Given the description of an element on the screen output the (x, y) to click on. 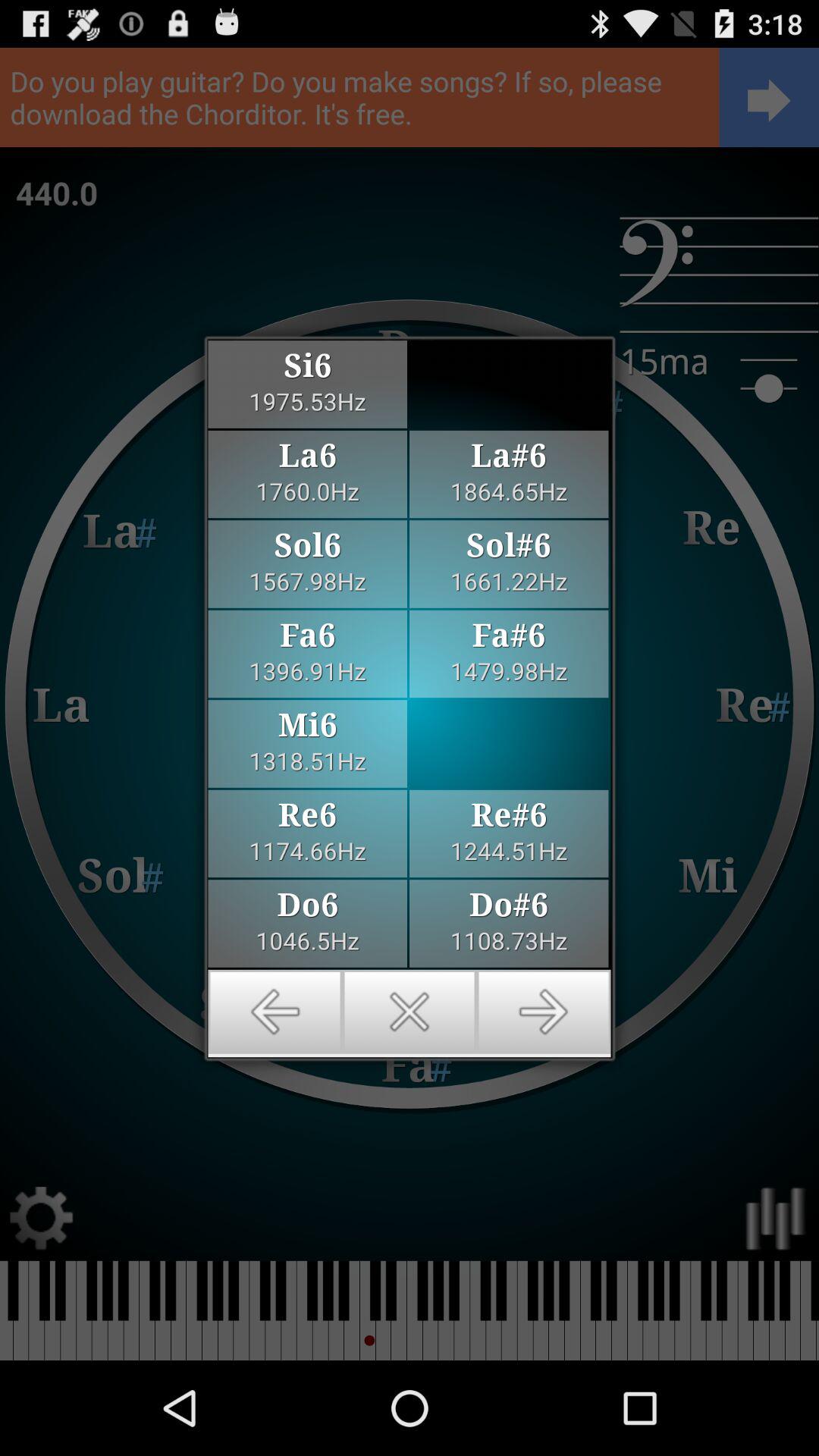
go next (543, 1011)
